Given the description of an element on the screen output the (x, y) to click on. 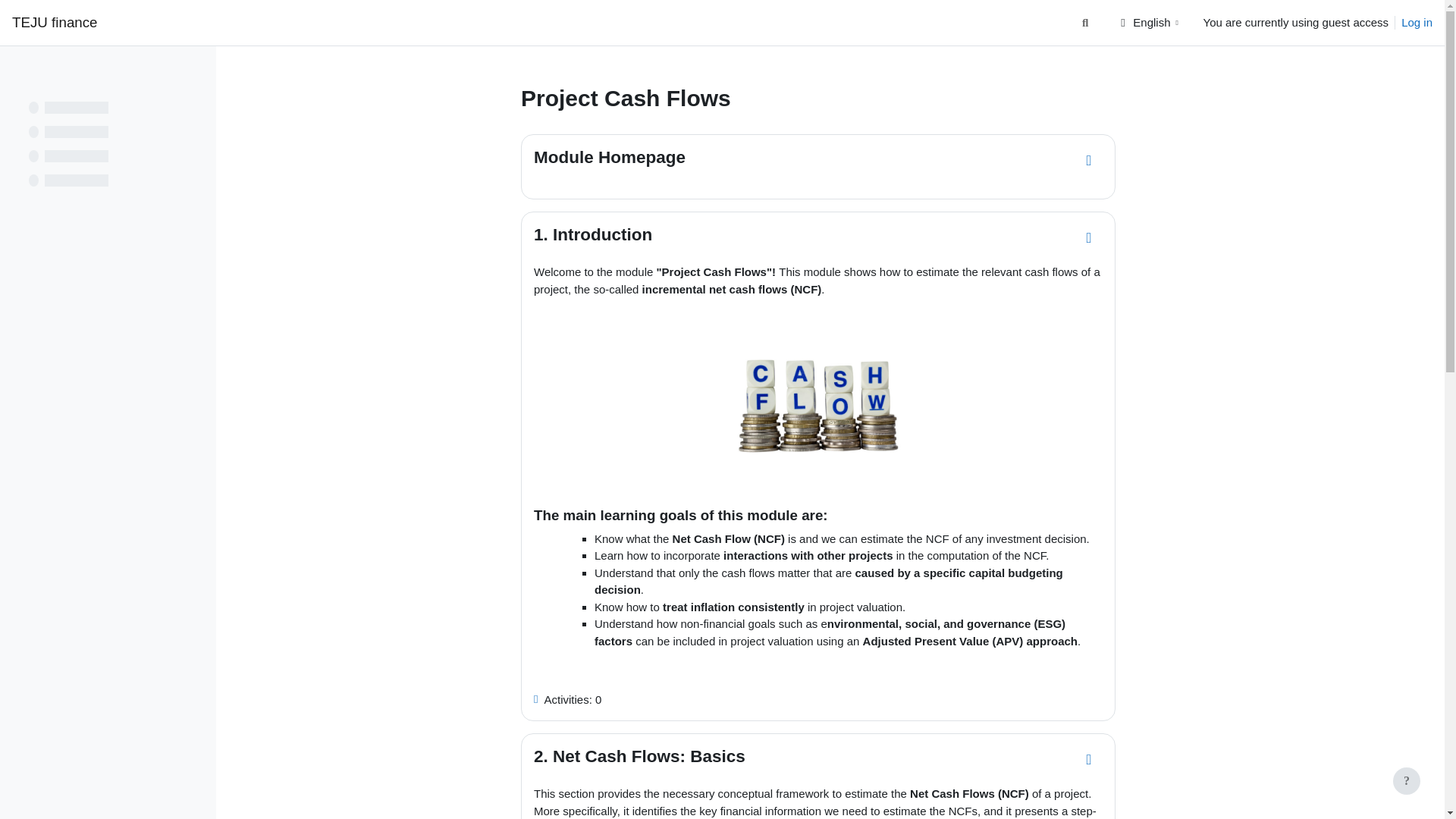
2. Net Cash Flows: Basics (639, 755)
Toggle search input (1085, 22)
1. Introduction (593, 234)
Log in (1416, 22)
Toggle search input (1085, 22)
Go to section 1. Introduction (1088, 237)
Go to section Module Homepage (1088, 160)
Go to section 2. Net Cash Flows: Basics (1088, 759)
Go to section Module Homepage (1088, 160)
Module Homepage (609, 157)
